Given the description of an element on the screen output the (x, y) to click on. 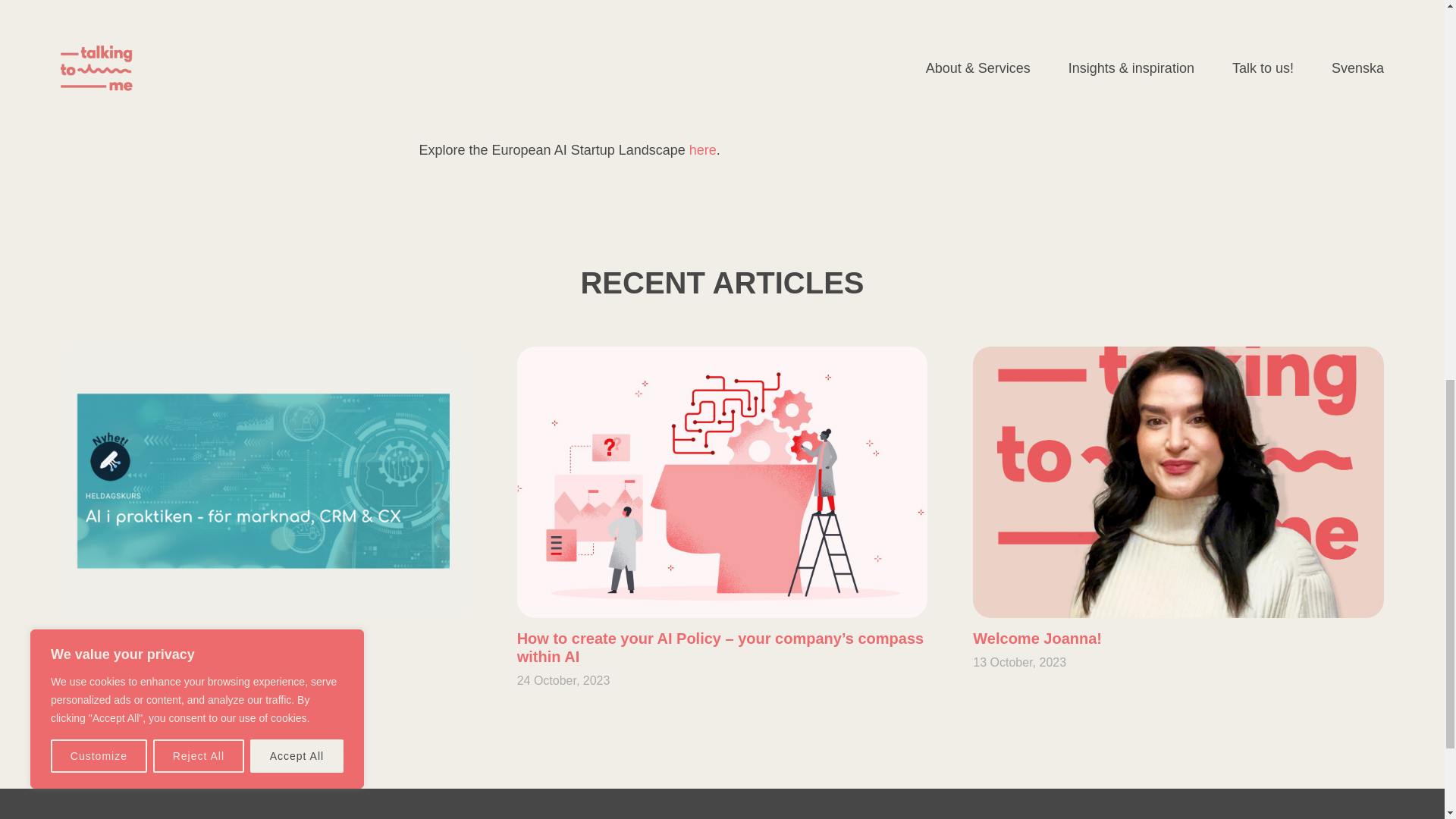
here (702, 150)
